Given the description of an element on the screen output the (x, y) to click on. 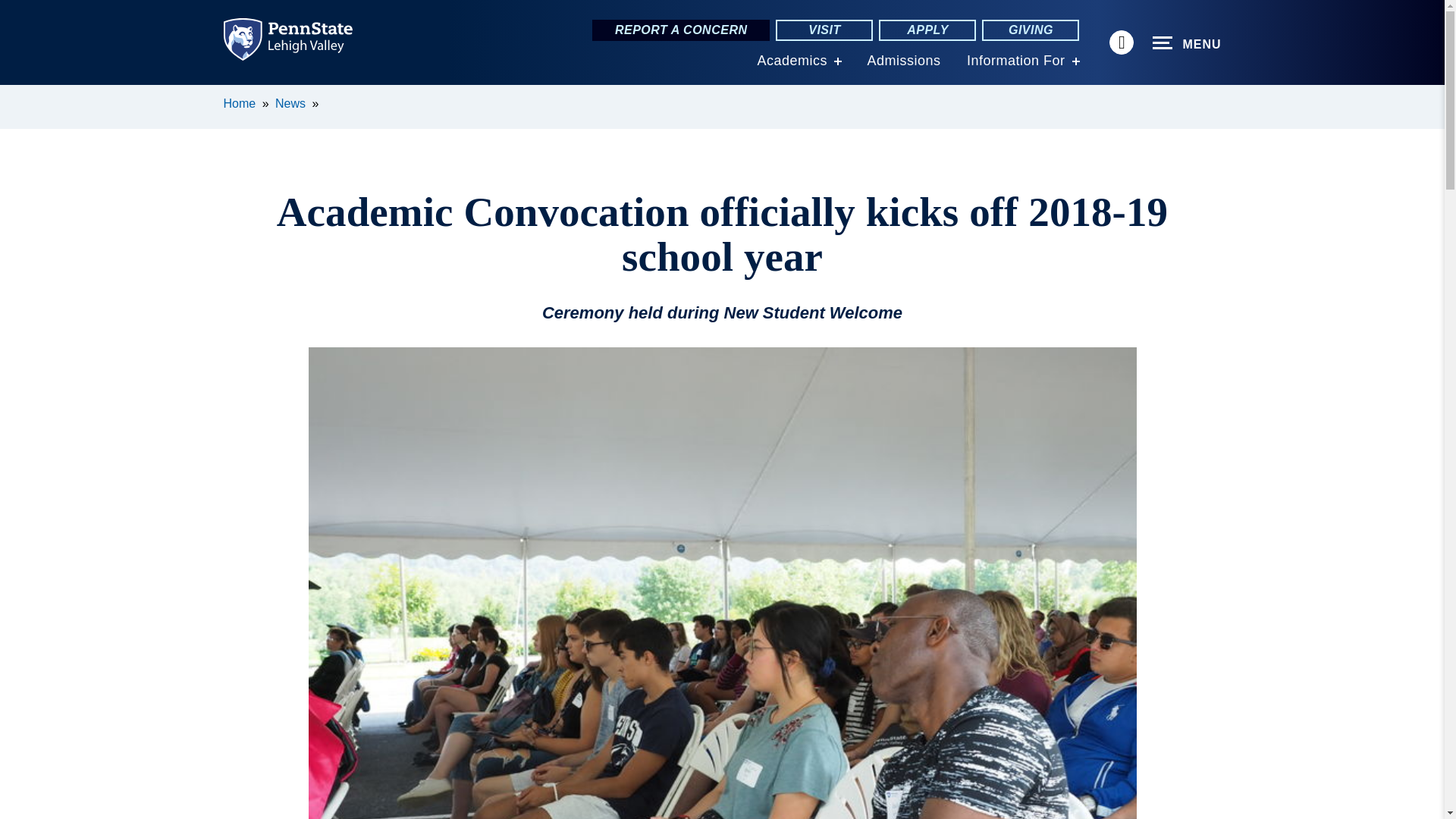
VISIT (824, 29)
Information For (1015, 60)
Academics (792, 60)
APPLY (927, 29)
GIVING (1029, 29)
SKIP TO MAIN CONTENT (19, 95)
MENU (1187, 43)
REPORT A CONCERN (681, 29)
Admissions (903, 60)
